Given the description of an element on the screen output the (x, y) to click on. 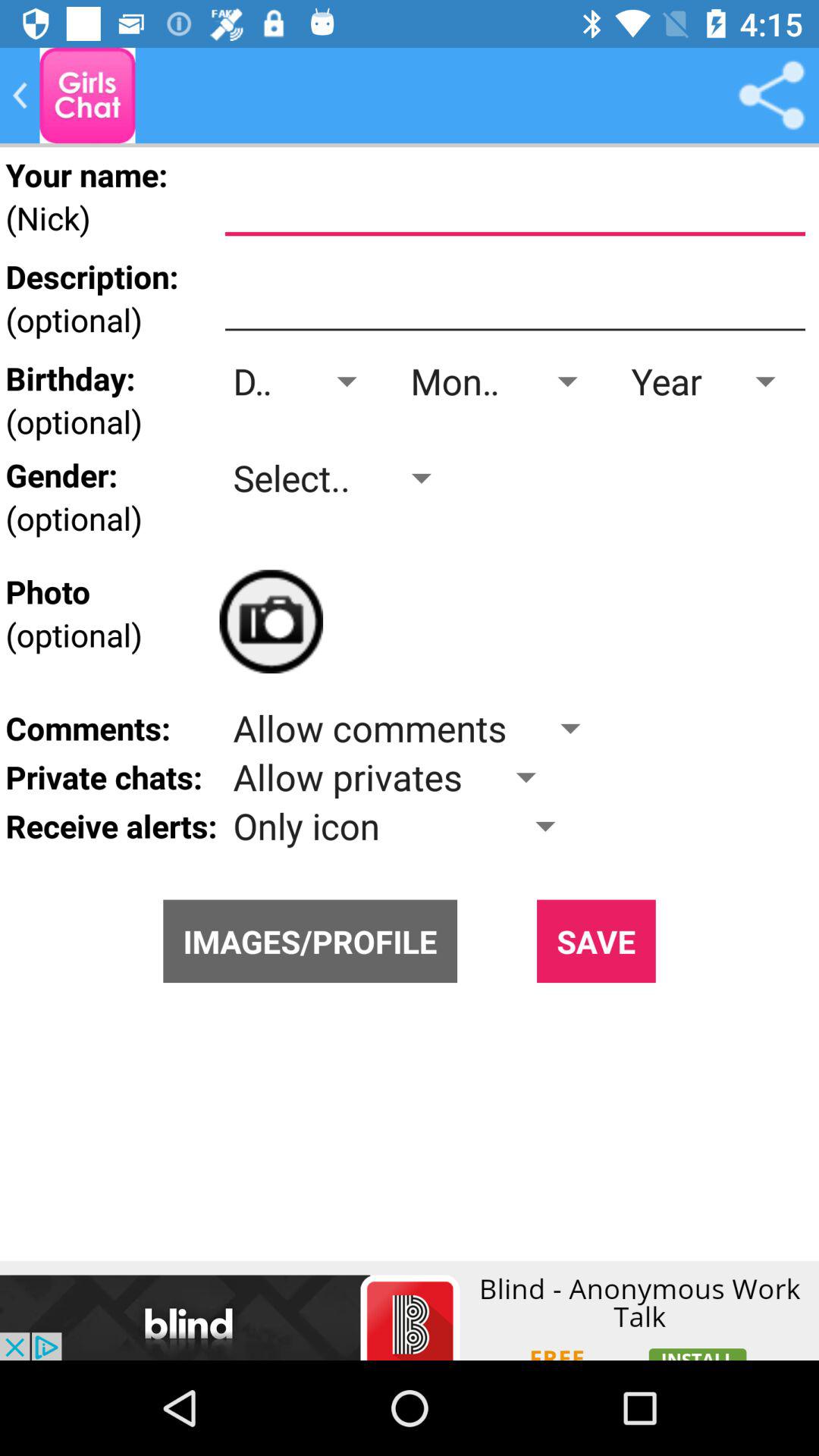
chat setting (87, 95)
